Given the description of an element on the screen output the (x, y) to click on. 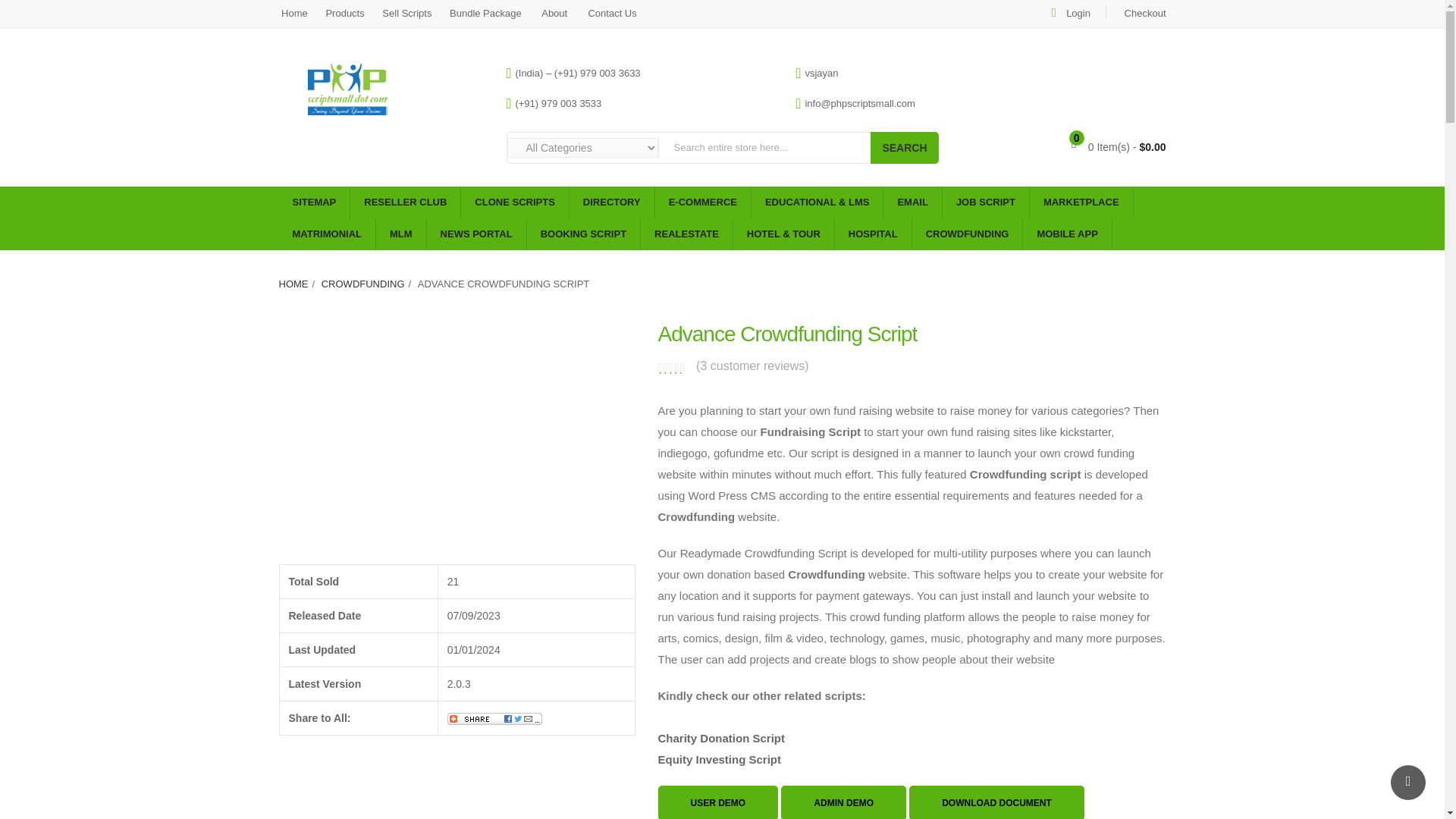
Directory (611, 202)
Bundle Package (485, 12)
Home (297, 12)
Email (911, 202)
About (553, 12)
